Given the description of an element on the screen output the (x, y) to click on. 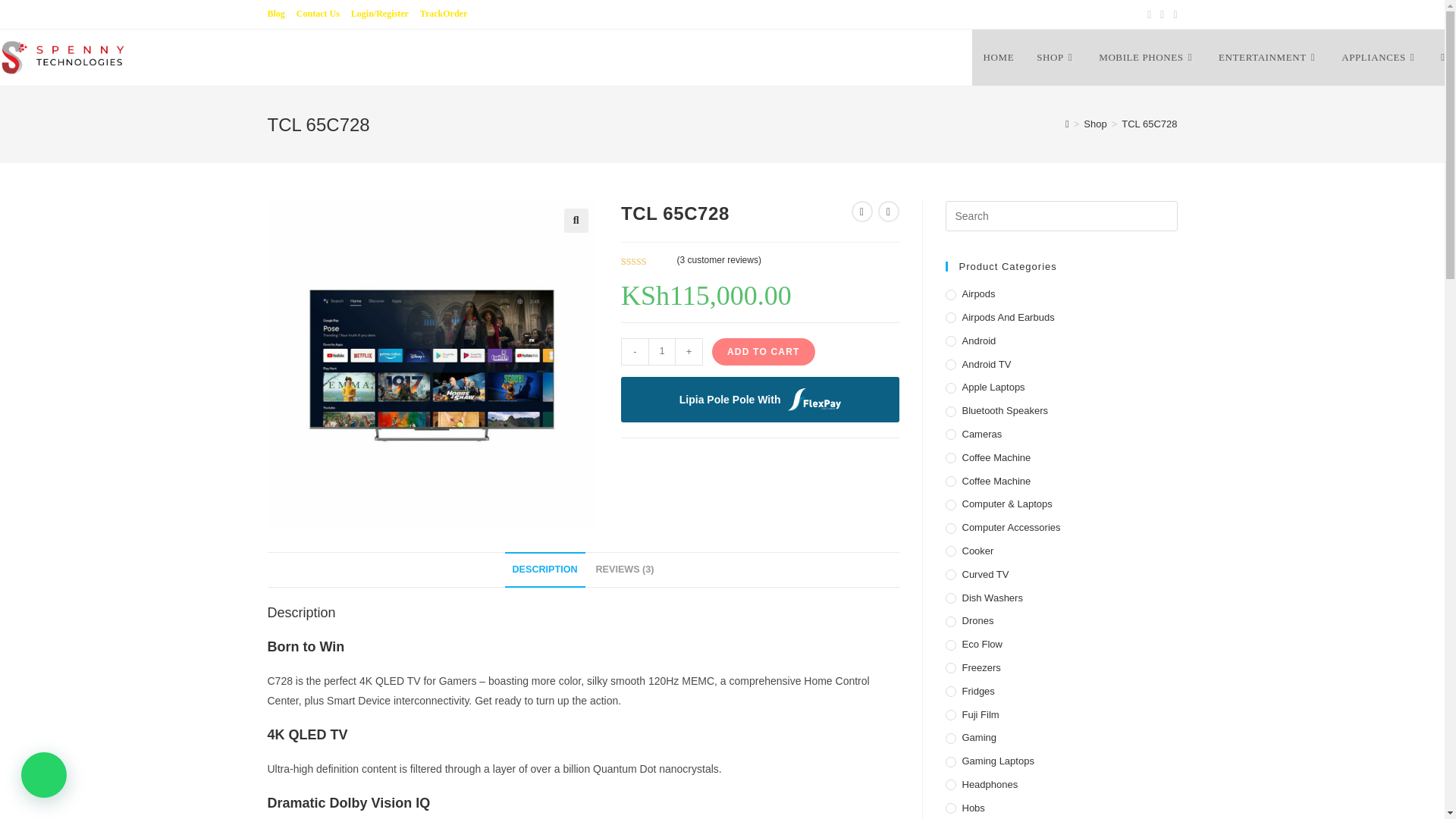
HOME (999, 57)
TrackOrder (443, 13)
Untitled design - 2022-02-18T161843.831 (430, 364)
ENTERTAINMENT (1268, 57)
Contact Us (318, 13)
SHOP (1056, 57)
APPLIANCES (1379, 57)
Blog (274, 13)
MOBILE PHONES (1147, 57)
1 (661, 351)
